Given the description of an element on the screen output the (x, y) to click on. 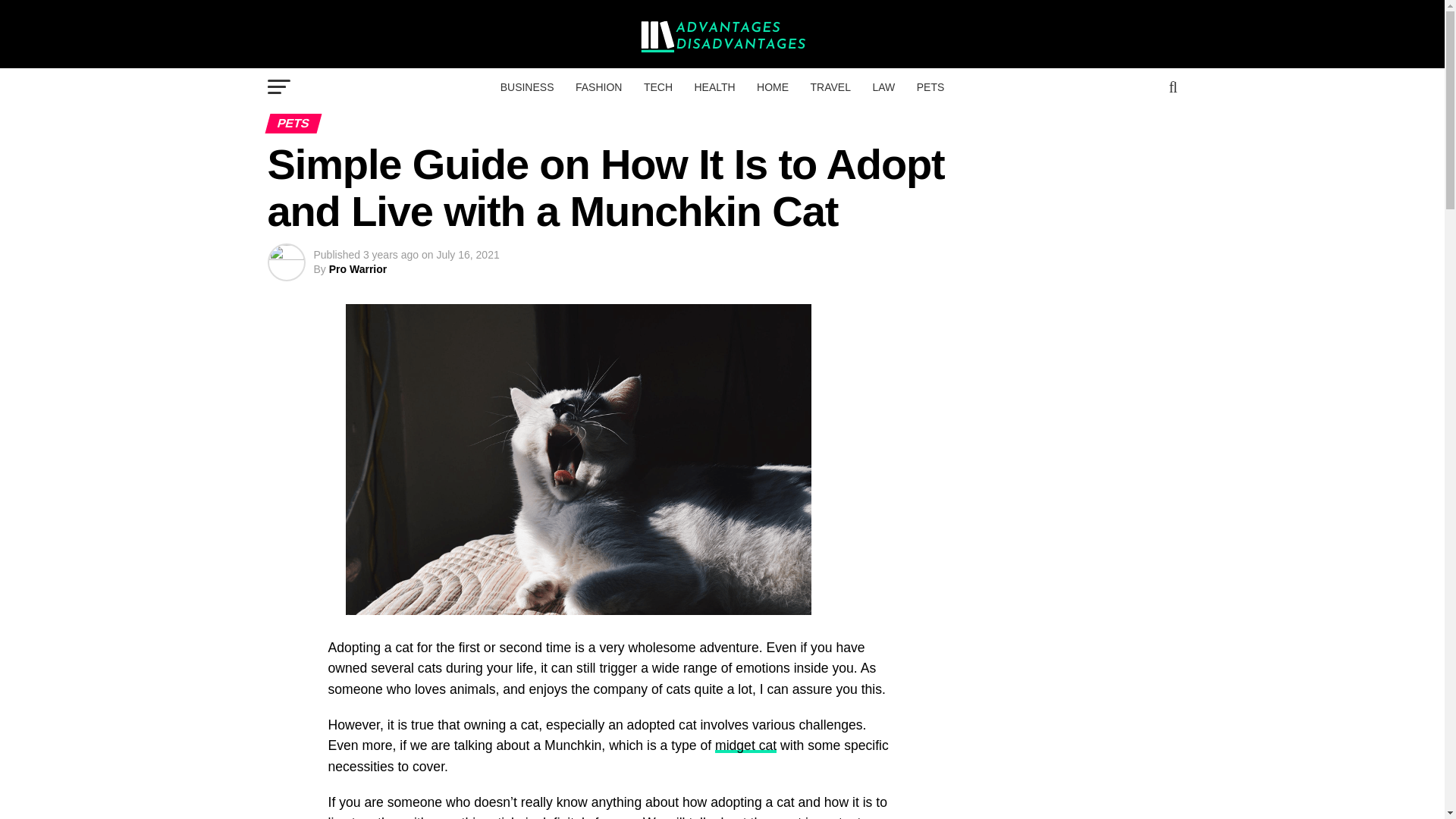
HEALTH (714, 86)
TECH (657, 86)
TRAVEL (831, 86)
BUSINESS (527, 86)
FASHION (598, 86)
HOME (772, 86)
Posts by Pro Warrior (358, 268)
